Given the description of an element on the screen output the (x, y) to click on. 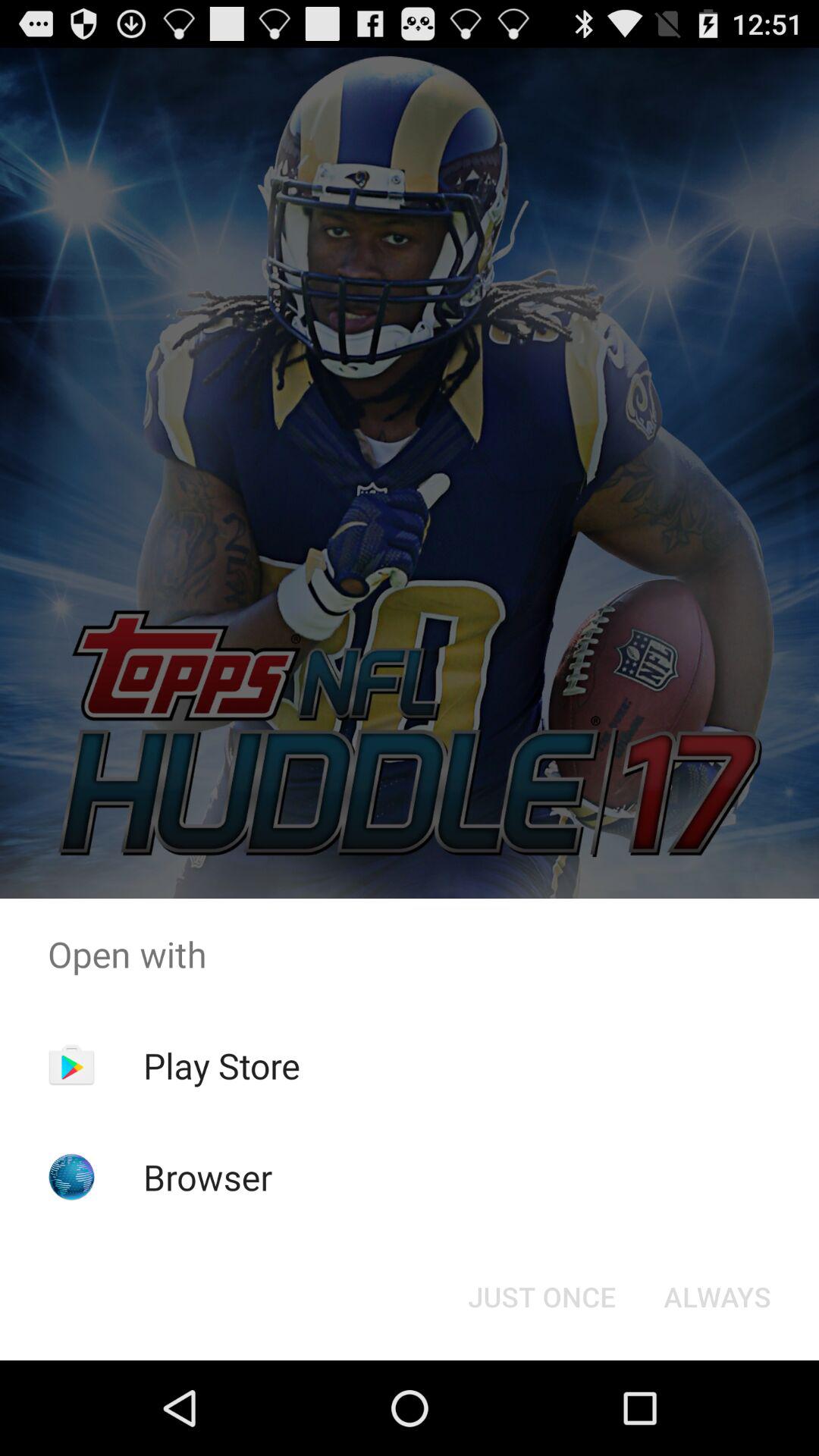
select the button to the right of the just once (717, 1296)
